Given the description of an element on the screen output the (x, y) to click on. 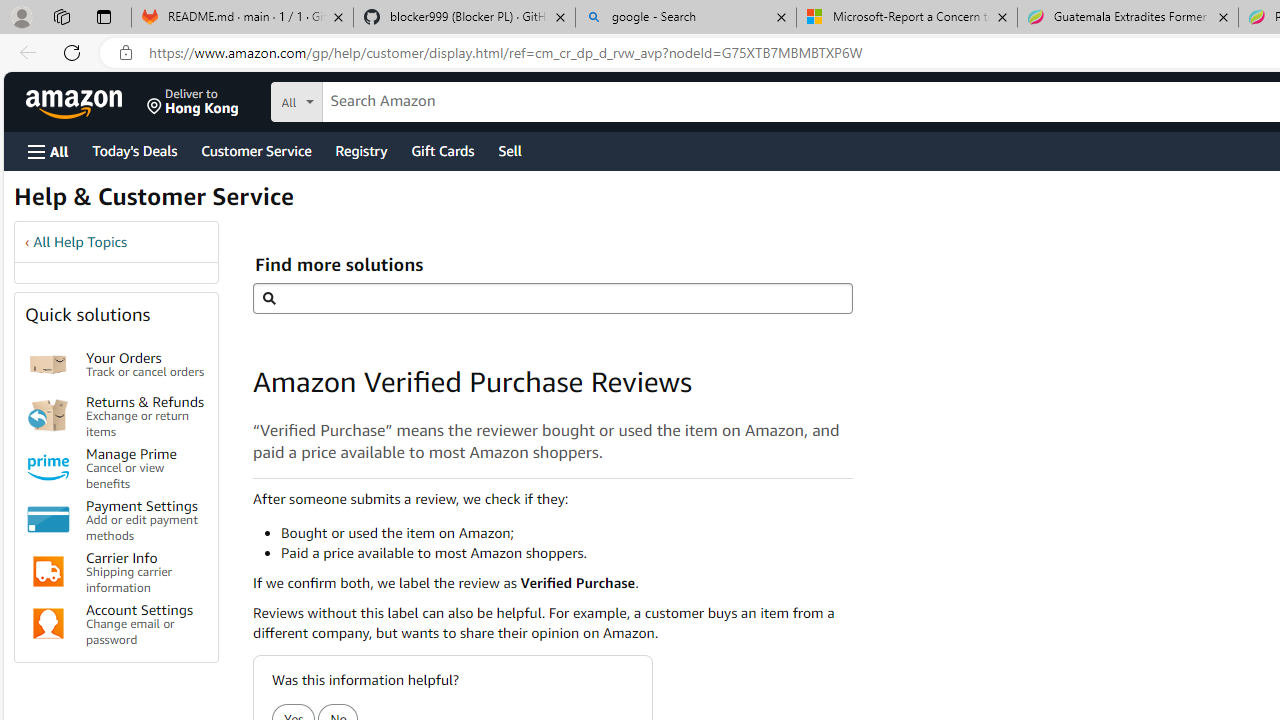
Returns & Refunds (48, 415)
Manage Prime Cancel or view benefits (145, 466)
Payment Settings (48, 520)
Manage Prime (48, 467)
Carrier Info Shipping carrier information (145, 571)
Account Settings (48, 623)
Manage Prime (48, 467)
Paid a price available to most Amazon shoppers. (566, 552)
Open Menu (48, 151)
Your Orders (48, 364)
